Given the description of an element on the screen output the (x, y) to click on. 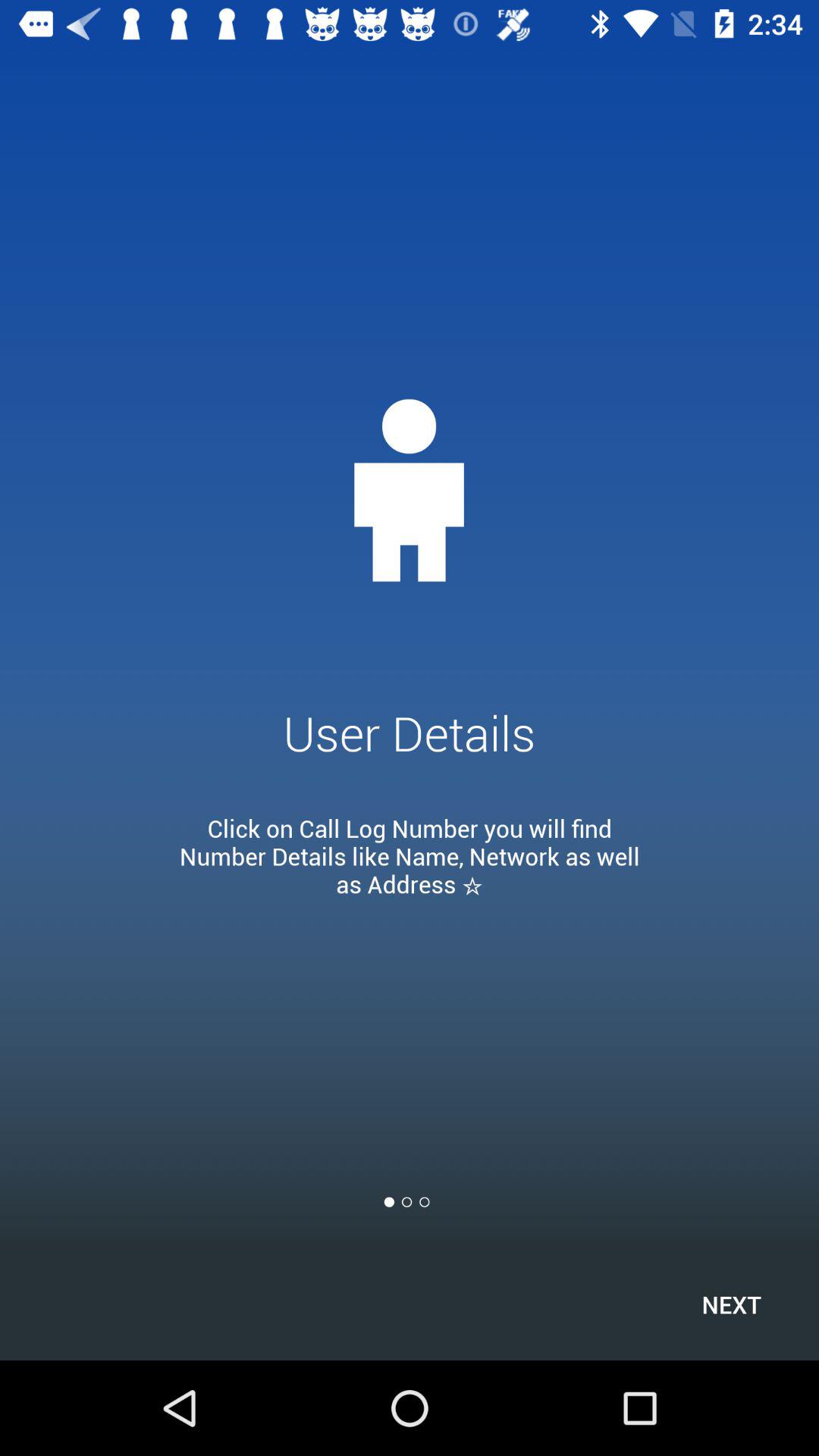
turn on the next icon (731, 1304)
